Given the description of an element on the screen output the (x, y) to click on. 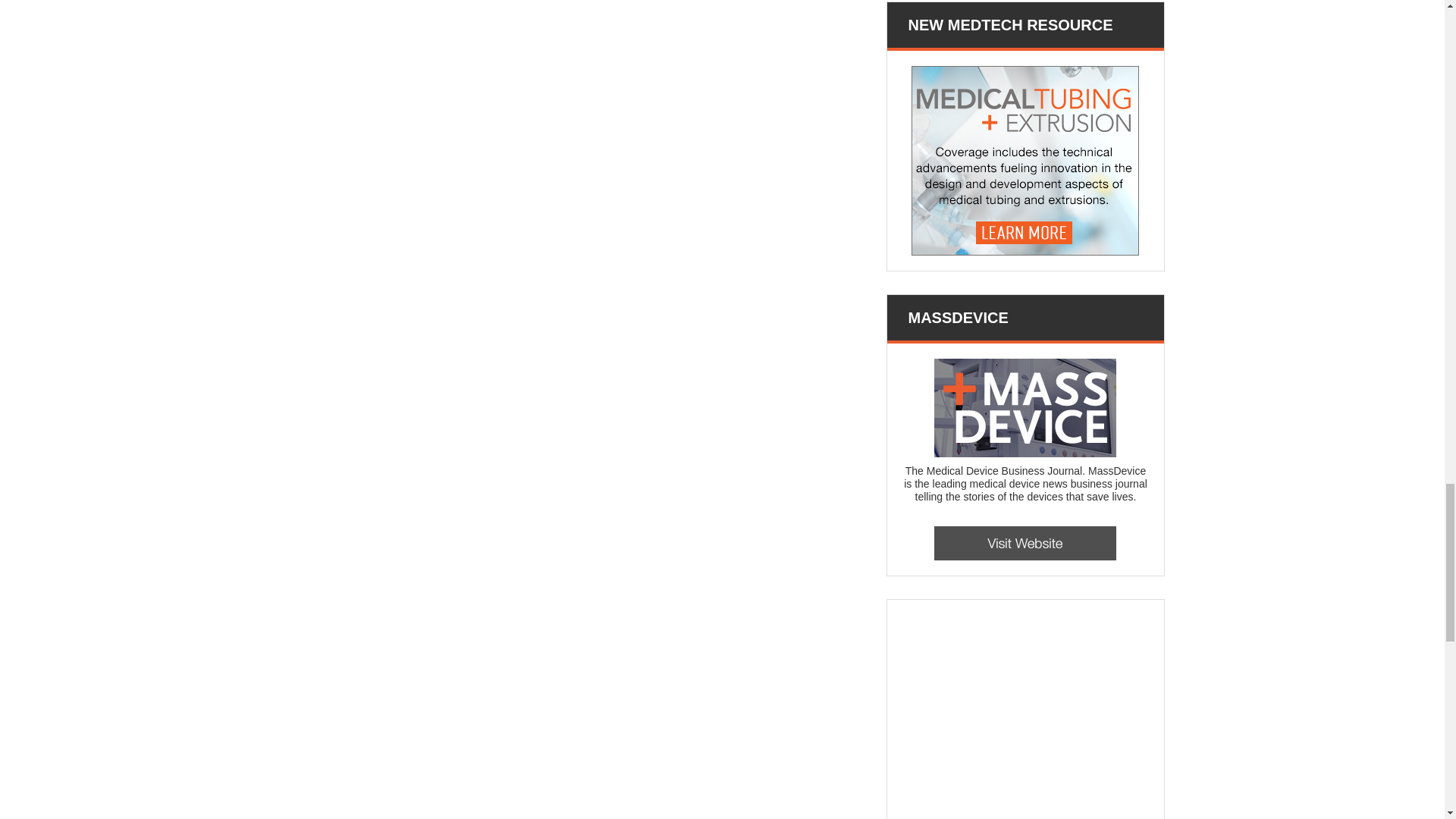
Mass Device (1025, 407)
3rd party ad content (1015, 716)
Visit Website (1025, 543)
